Given the description of an element on the screen output the (x, y) to click on. 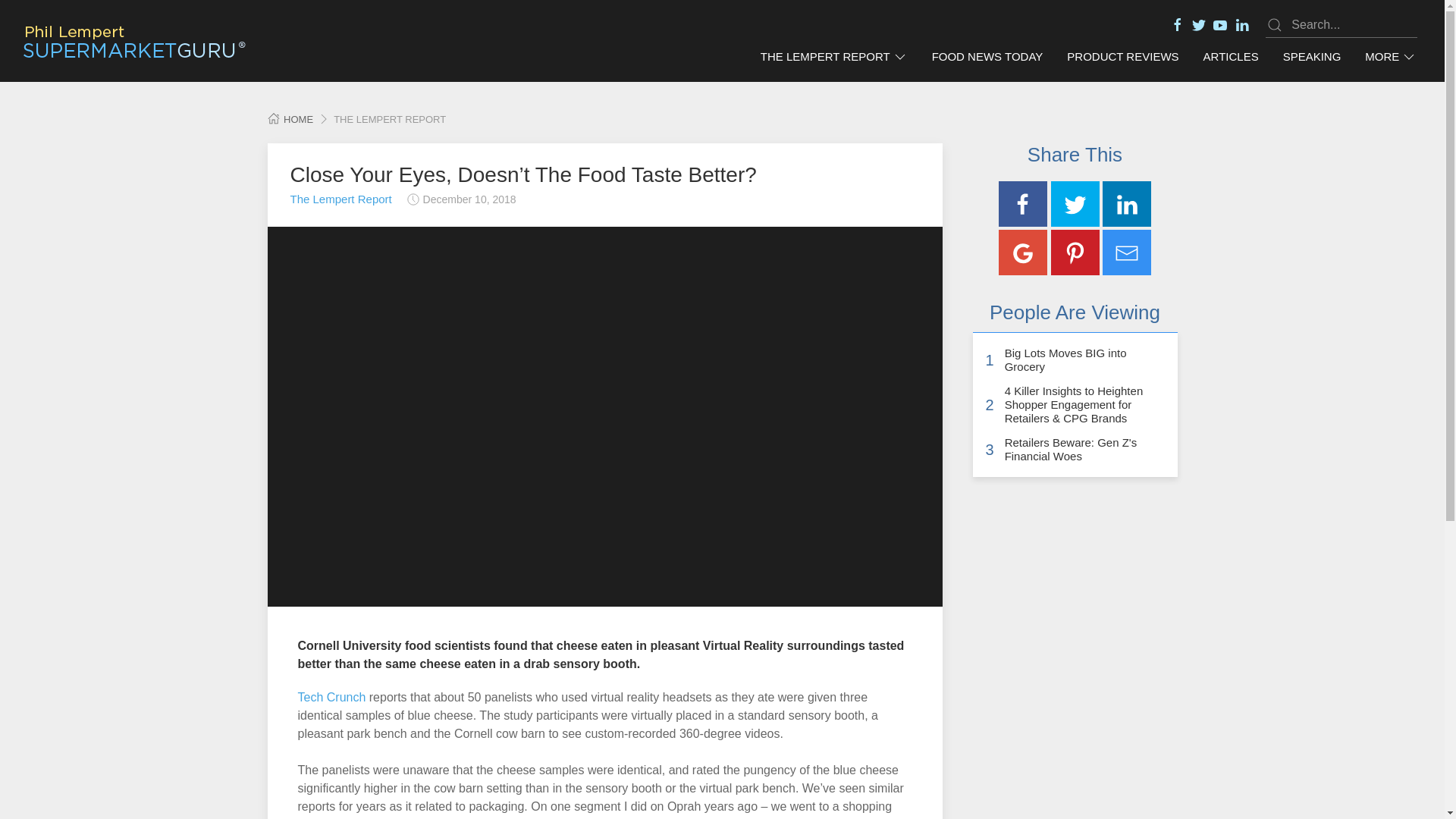
SPEAKING (1312, 56)
PRODUCT REVIEWS (1122, 56)
THE LEMPERT REPORT (834, 56)
HOME (289, 119)
FOOD NEWS TODAY (987, 56)
ARTICLES (1231, 56)
MORE (1390, 56)
